Given the description of an element on the screen output the (x, y) to click on. 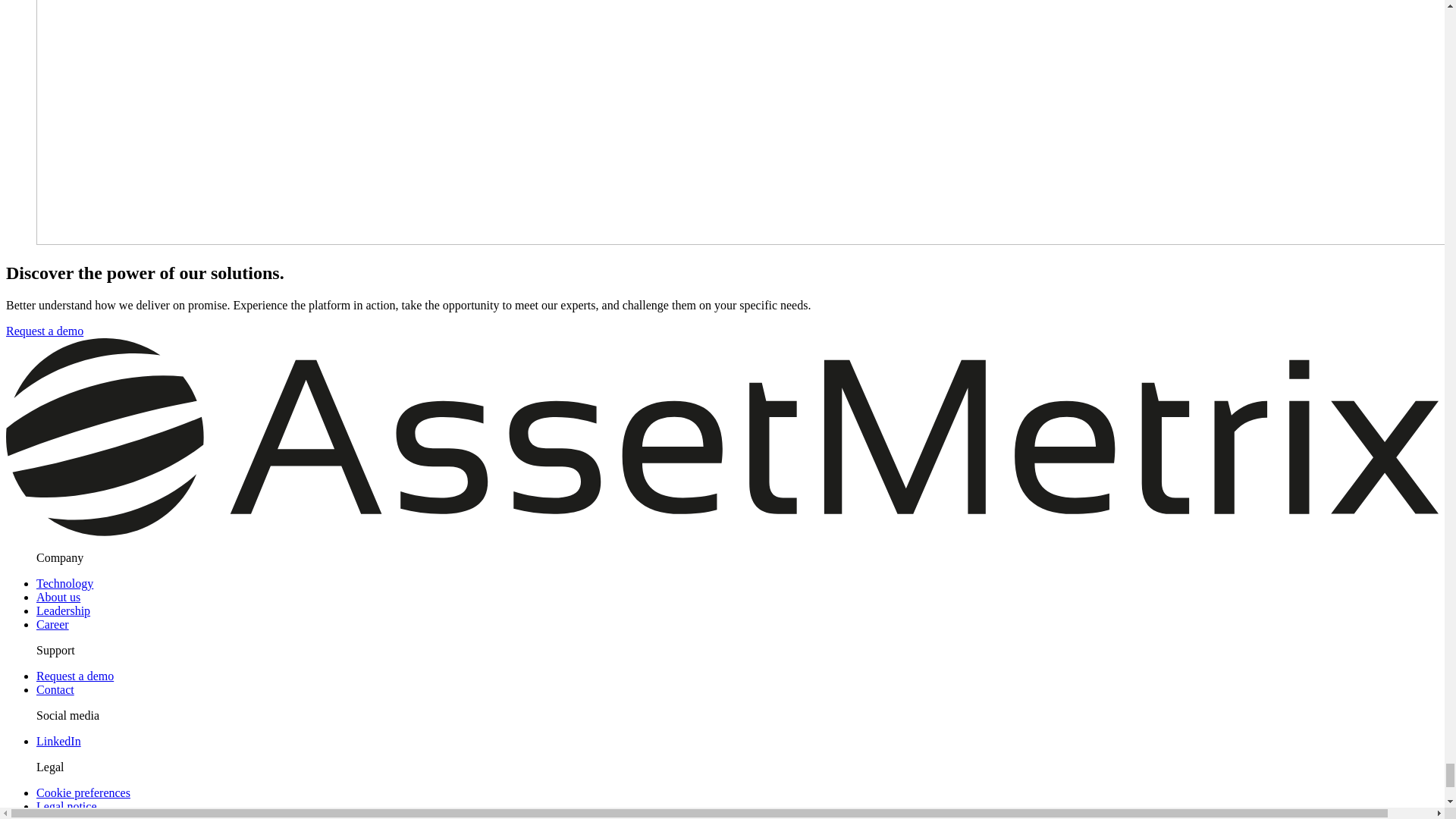
Leadership (63, 610)
Request a demo (43, 330)
Request a demo (74, 675)
Cookie preferences (83, 792)
LinkedIn (58, 740)
Technology (64, 583)
Contact (55, 689)
Privacy notice (71, 816)
